Given the description of an element on the screen output the (x, y) to click on. 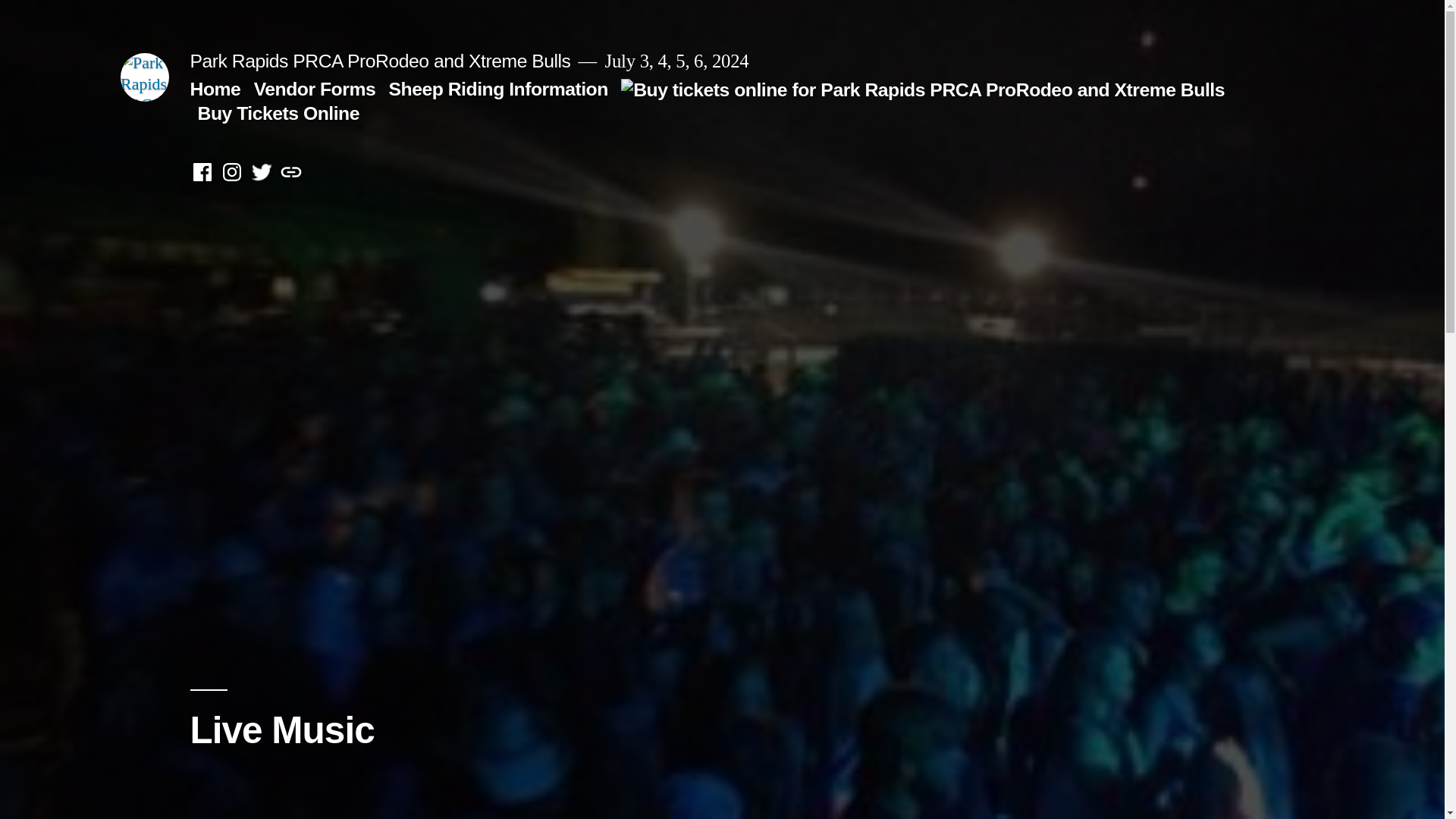
Buy Tickets Online (710, 100)
Vendor Forms (314, 88)
Home (214, 88)
Sheep Riding Information (498, 88)
Park Rapids PRCA ProRodeo and Xtreme Bulls (379, 60)
